Given the description of an element on the screen output the (x, y) to click on. 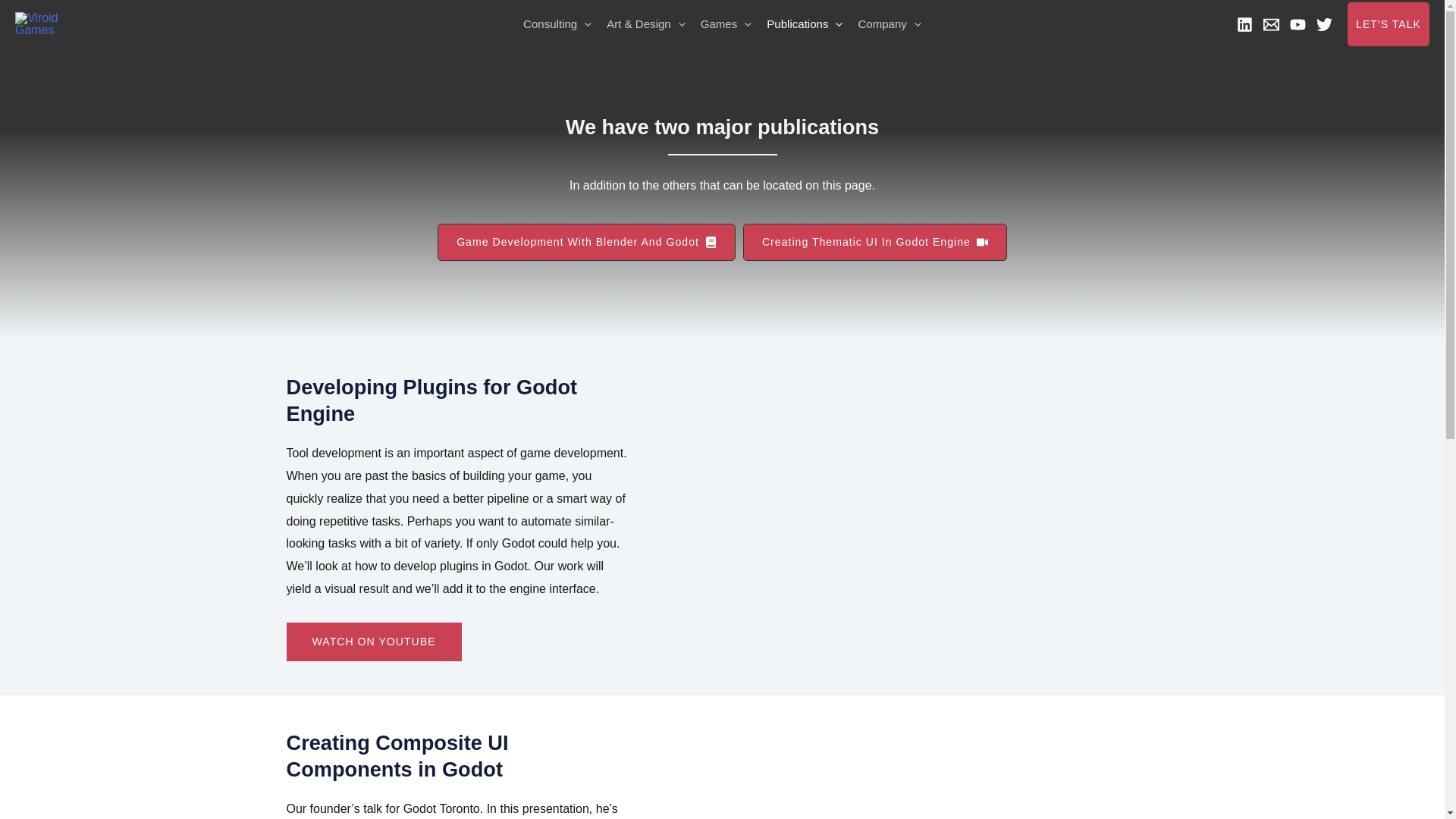
Games (726, 23)
Creating Composite UI Components in Godot (928, 774)
Company (889, 23)
Publications (804, 23)
Consulting (556, 23)
Developing Plugins for Godot Engine (928, 502)
LET'S TALK (1388, 23)
